Given the description of an element on the screen output the (x, y) to click on. 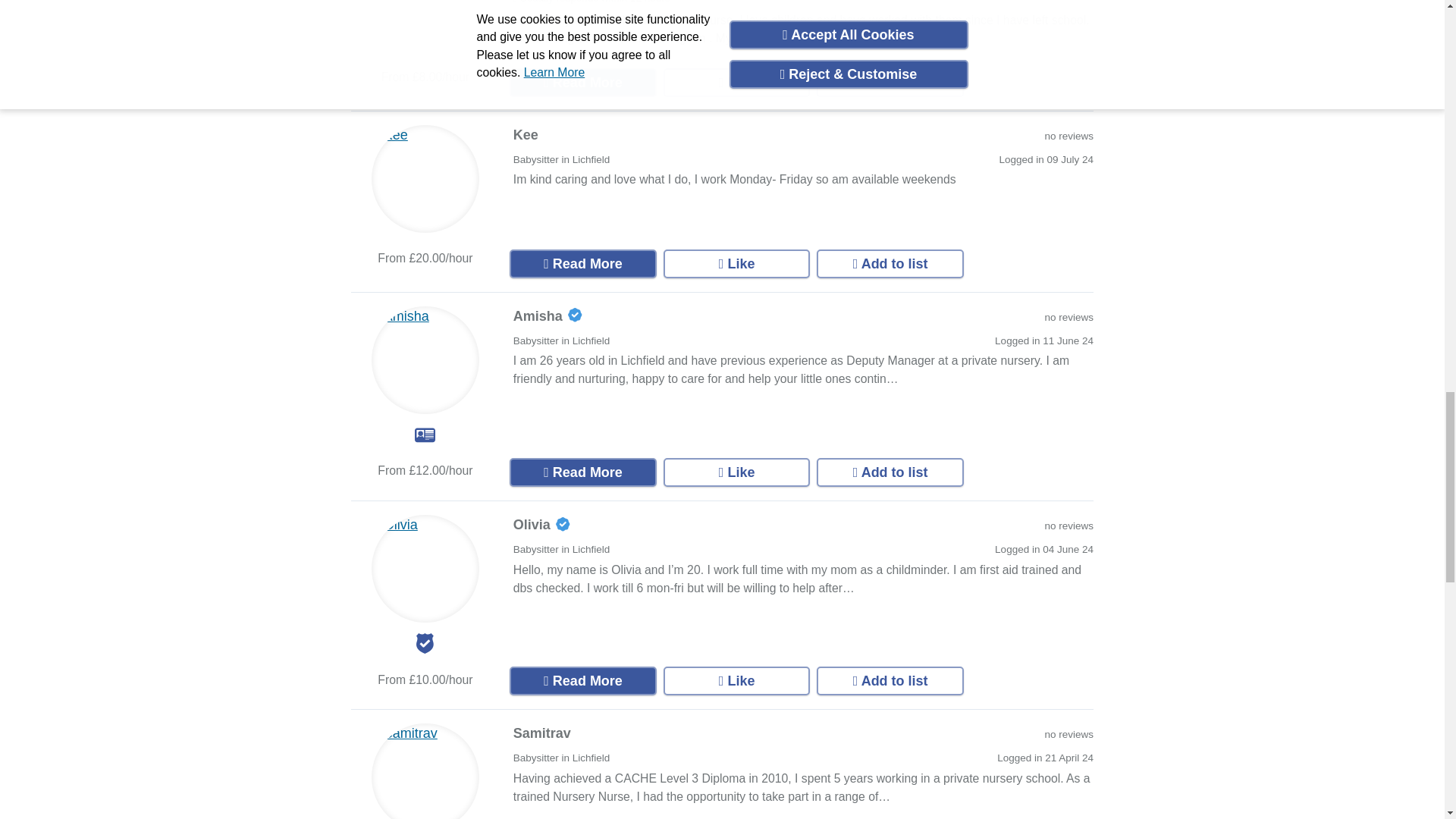
Copy of identity document held (424, 435)
View this members full provile (582, 82)
View this members full provile (582, 263)
